Given the description of an element on the screen output the (x, y) to click on. 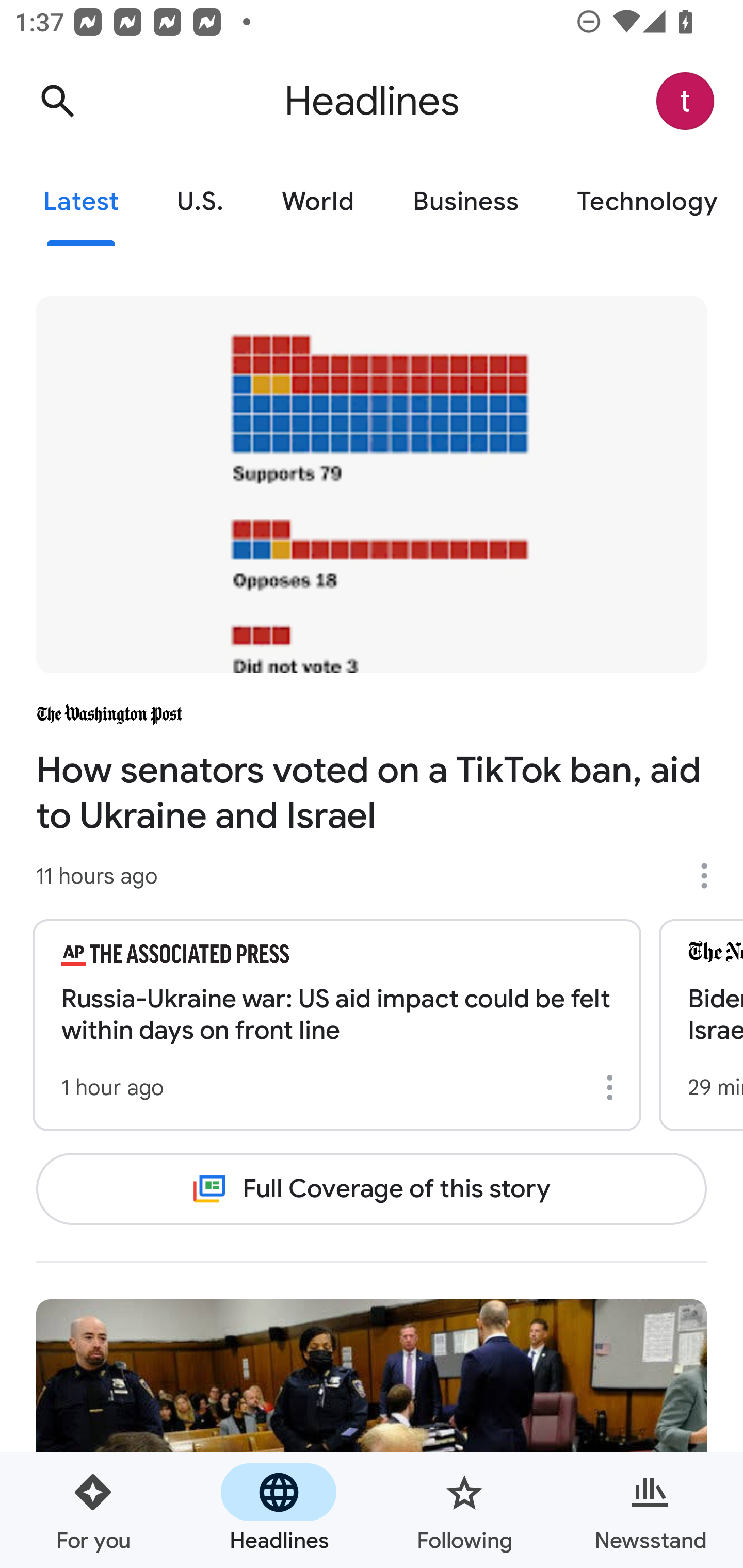
Search (57, 100)
U.S. (199, 202)
World (317, 202)
Business (465, 202)
Technology (645, 202)
More options (711, 875)
More options (613, 1086)
Full Coverage of this story (371, 1188)
For you (92, 1509)
Headlines (278, 1509)
Following (464, 1509)
Newsstand (650, 1509)
